Given the description of an element on the screen output the (x, y) to click on. 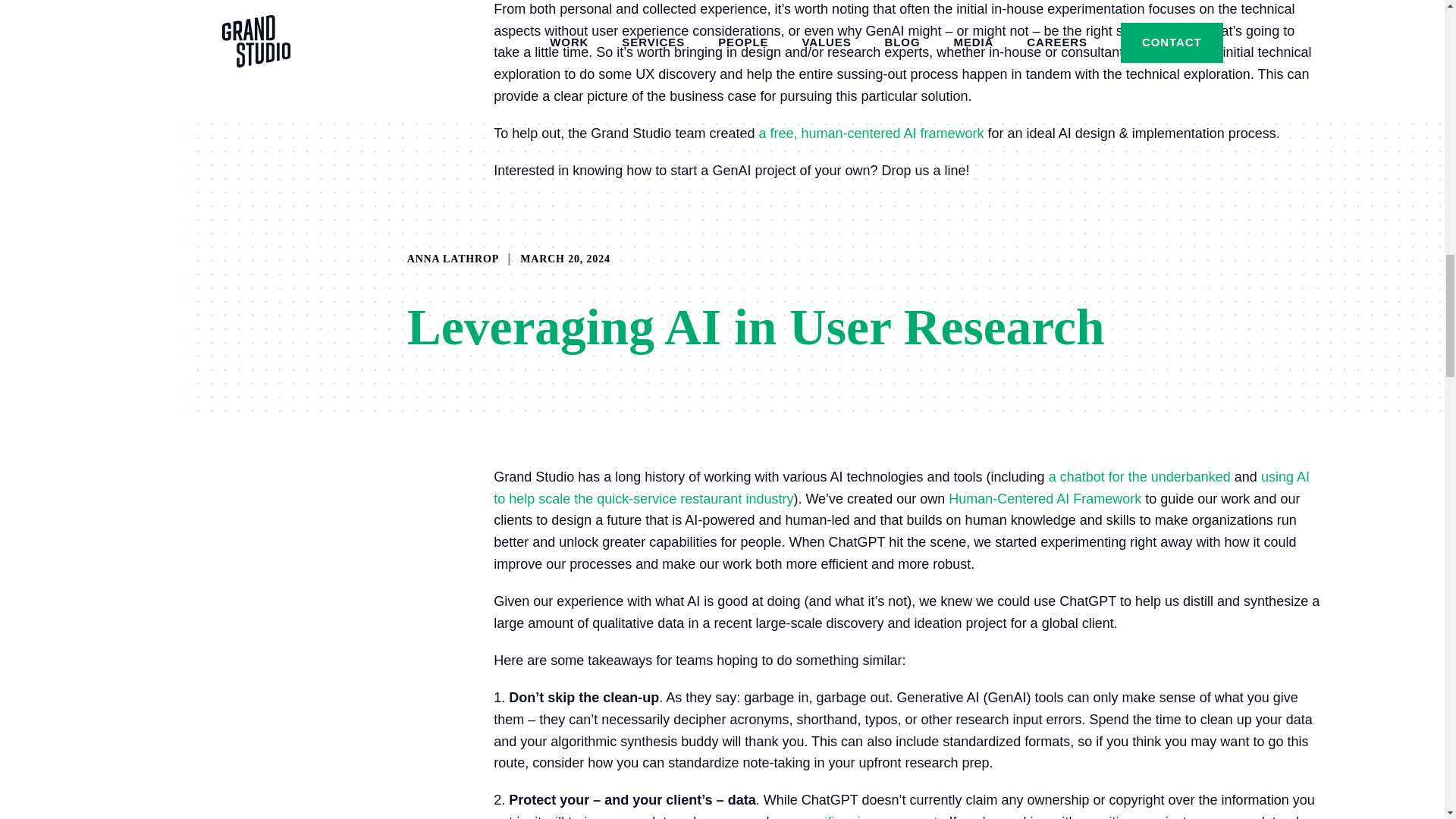
using AI to help scale the quick-service restaurant industry (900, 487)
a chatbot for the underbanked (1139, 476)
a specific privacy request (860, 816)
Human-Centered AI Framework (1045, 498)
a free, human-centered AI framework (871, 133)
